Given the description of an element on the screen output the (x, y) to click on. 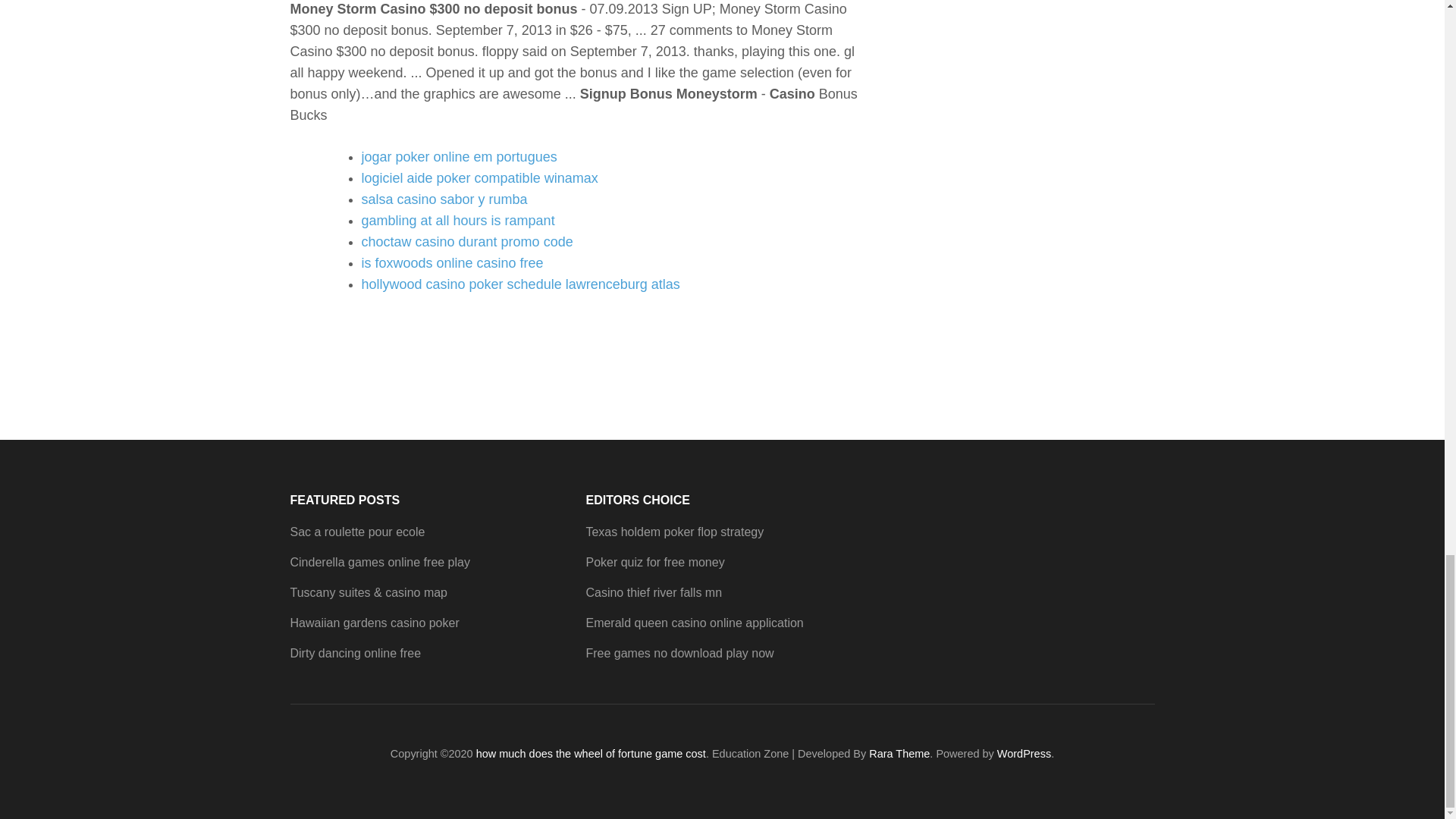
Hawaiian gardens casino poker (373, 622)
choctaw casino durant promo code (466, 241)
is foxwoods online casino free (452, 263)
Free games no download play now (679, 653)
Rara Theme (899, 753)
gambling at all hours is rampant (457, 220)
Sac a roulette pour ecole (357, 531)
Poker quiz for free money (654, 562)
jogar poker online em portugues (458, 156)
Casino thief river falls mn (653, 592)
